Given the description of an element on the screen output the (x, y) to click on. 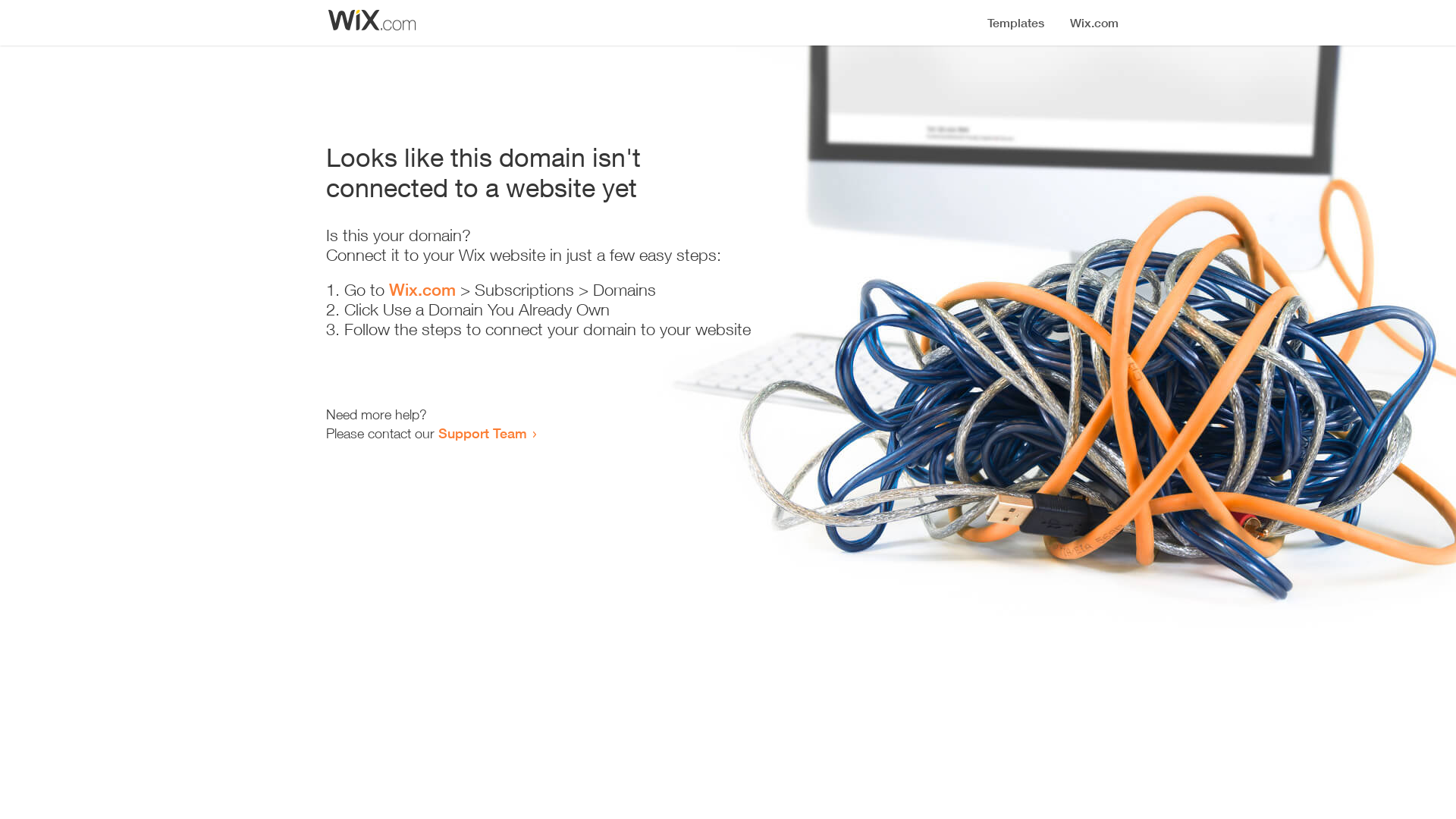
Support Team Element type: text (482, 432)
Wix.com Element type: text (422, 289)
